Given the description of an element on the screen output the (x, y) to click on. 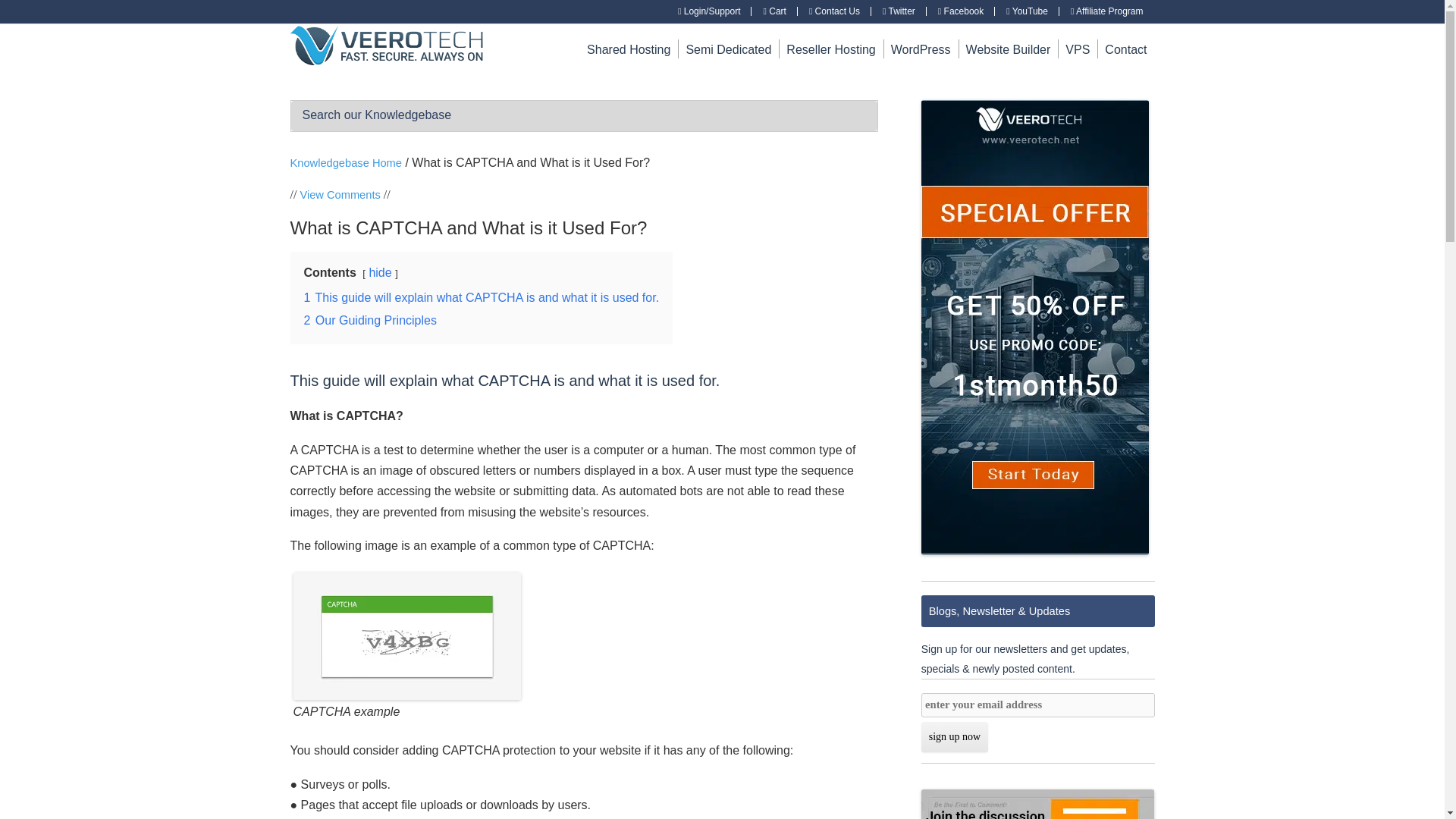
2 Our Guiding Principles (368, 319)
Semi Dedicated (728, 49)
hide (379, 272)
VPS (1077, 49)
Twitter (898, 10)
Contact Us (834, 10)
Affiliate Program (1106, 10)
Facebook (960, 10)
sign up now (954, 736)
Website Builder (1008, 49)
